Given the description of an element on the screen output the (x, y) to click on. 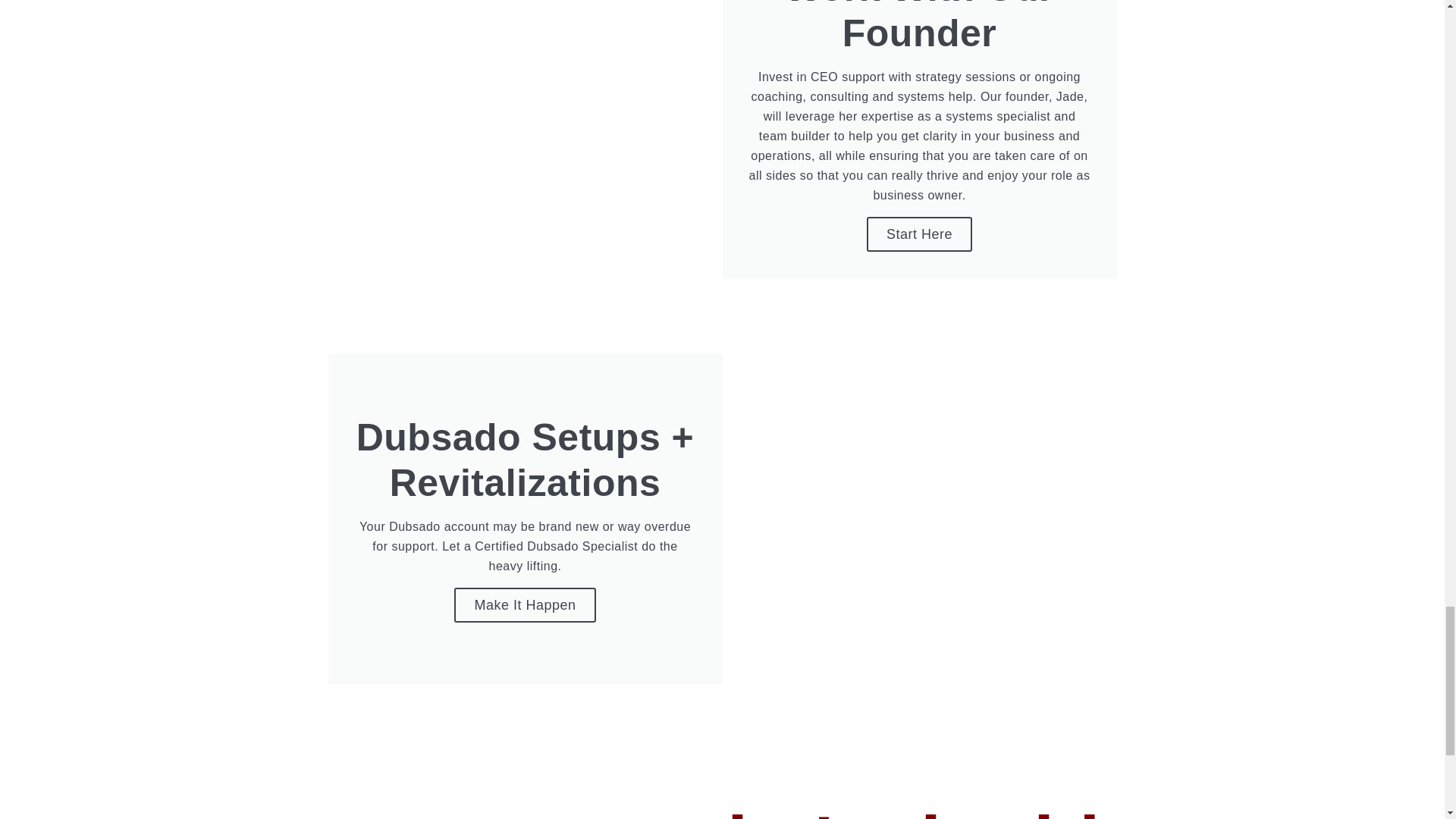
Start Here (919, 234)
Make It Happen (524, 605)
